Given the description of an element on the screen output the (x, y) to click on. 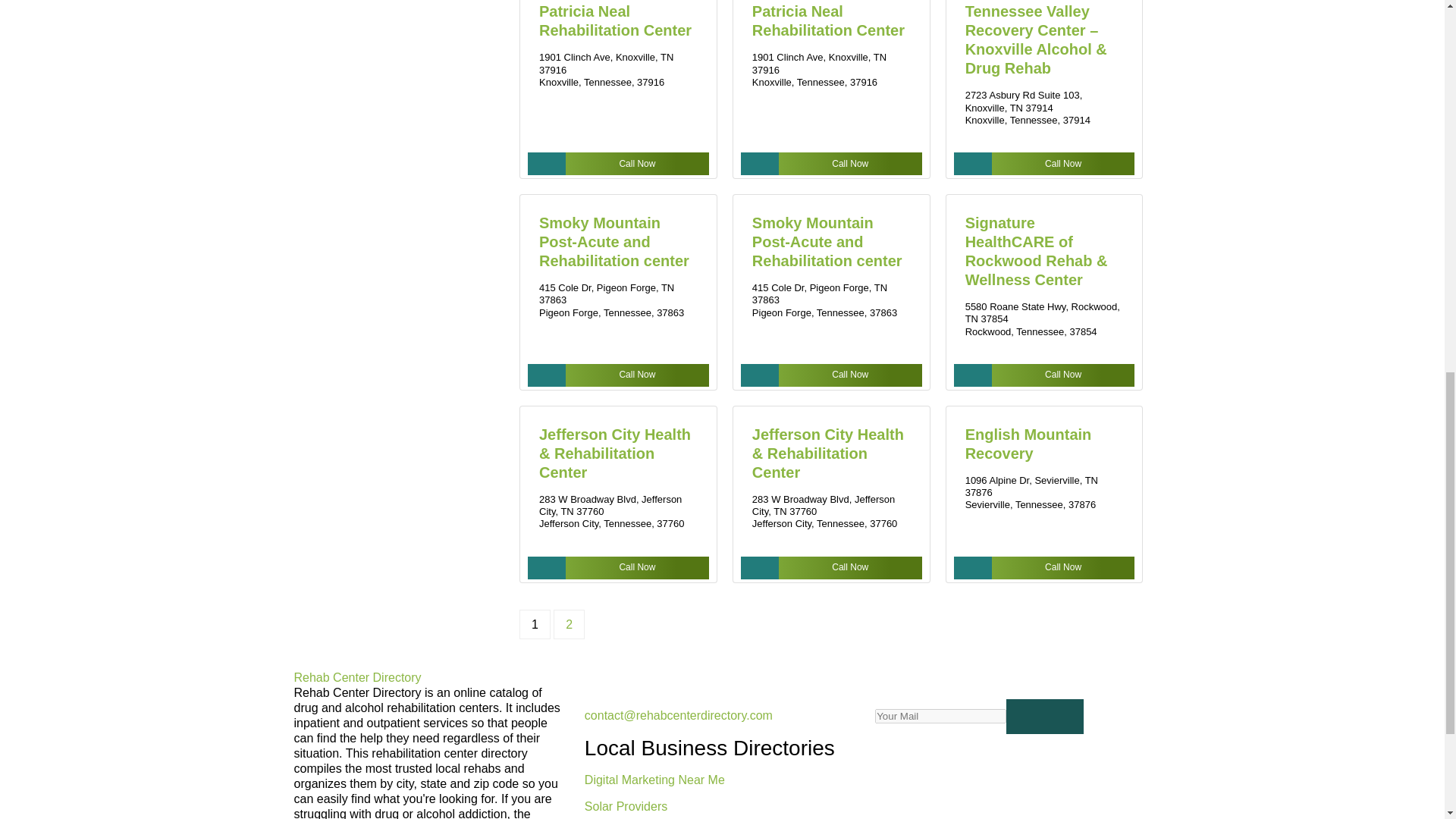
Smoky Mountain Post-Acute and Rehabilitation center (827, 241)
Solar Providers (625, 805)
Call Now (831, 163)
Call Now (618, 163)
2 (569, 624)
Call Now (831, 567)
Patricia Neal Rehabilitation Center (828, 20)
Call Now (831, 374)
Call Now (1044, 163)
Call Now (618, 374)
